Given the description of an element on the screen output the (x, y) to click on. 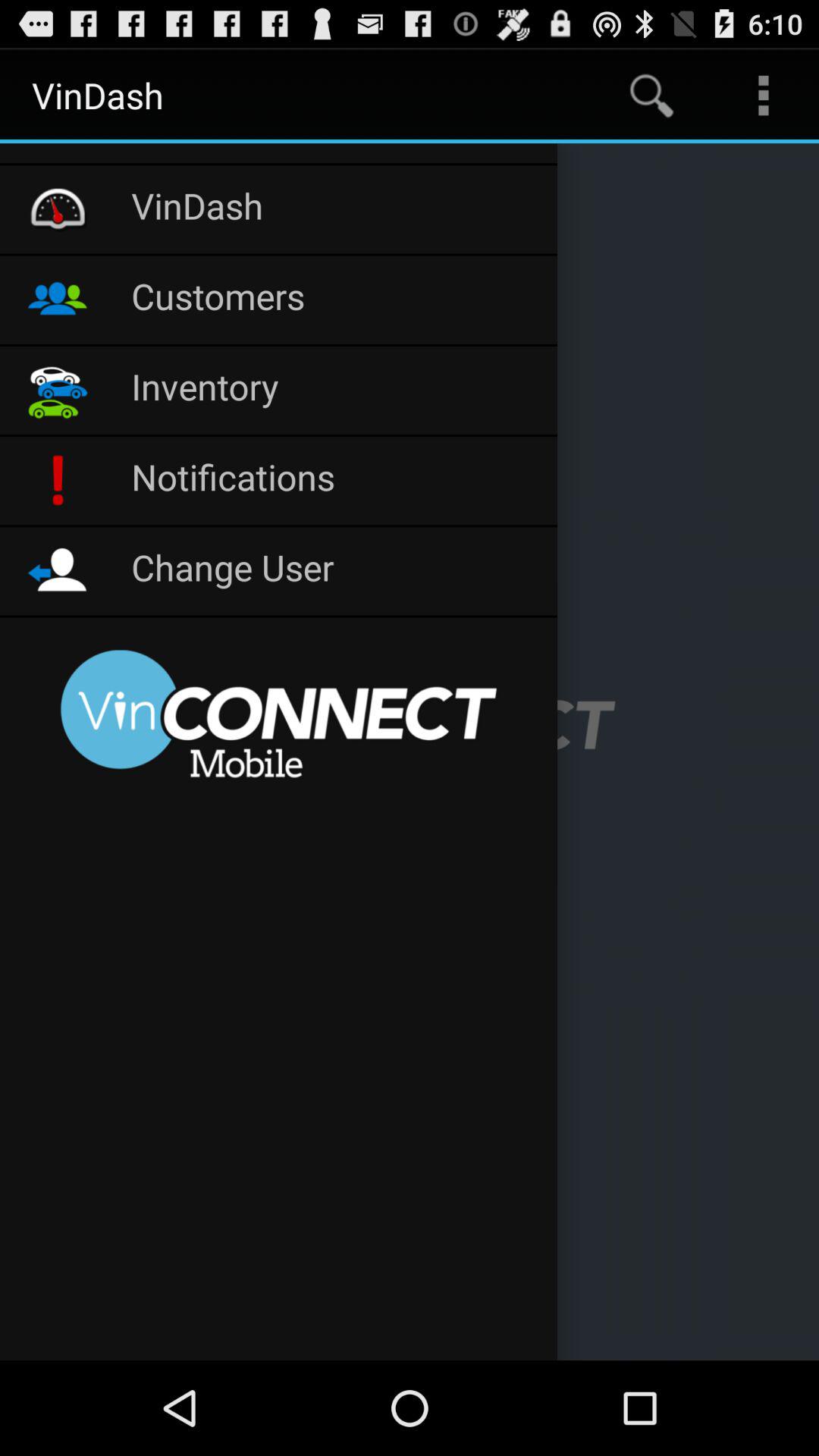
flip until the inventory (336, 389)
